Given the description of an element on the screen output the (x, y) to click on. 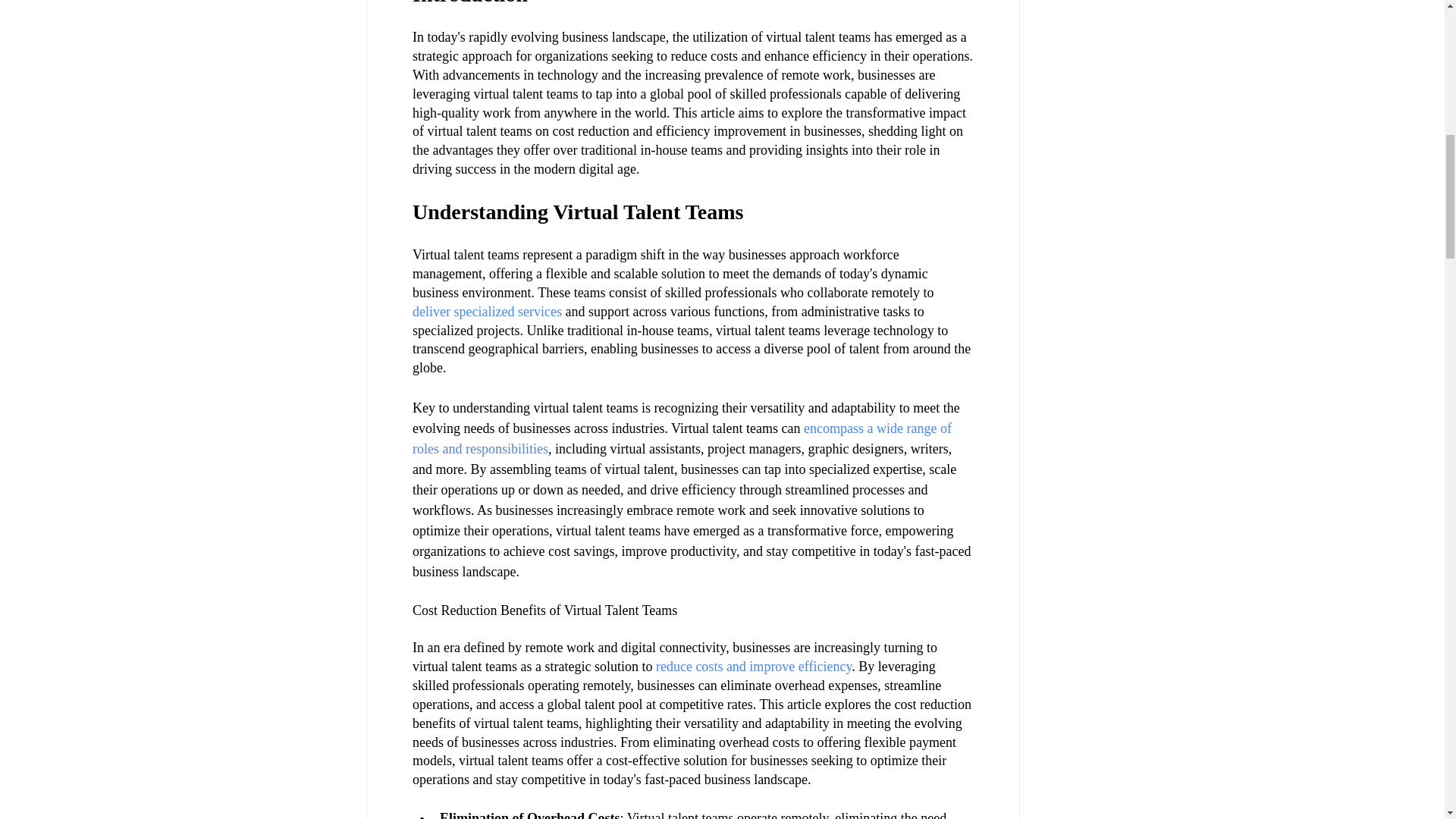
encompass a wide range of roles and responsibilities (683, 438)
reduce costs and improve efficiency (752, 666)
deliver specialized services (487, 311)
